Given the description of an element on the screen output the (x, y) to click on. 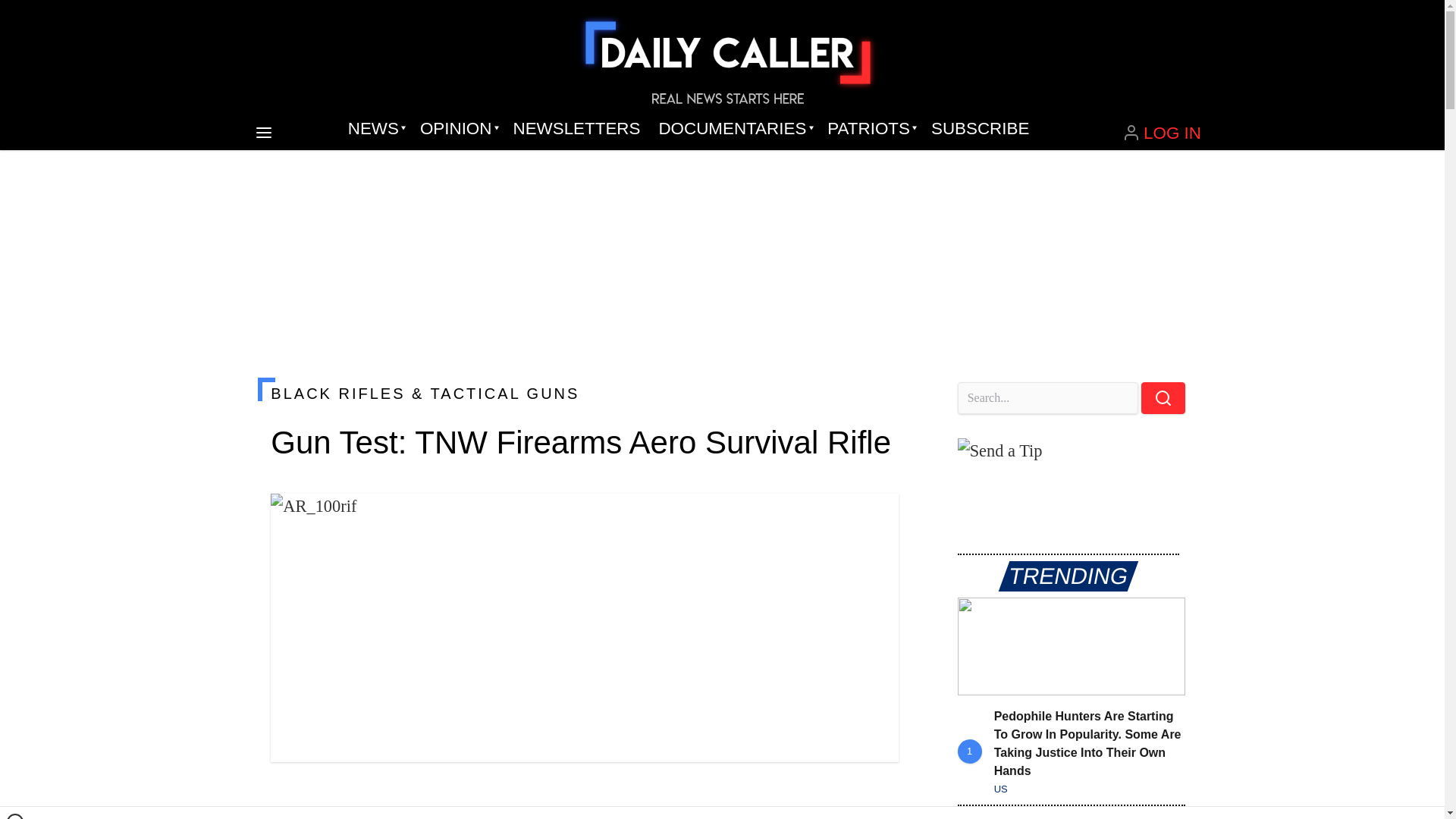
NEWSLETTERS (576, 128)
SUBSCRIBE (979, 128)
Close window (14, 816)
DOCUMENTARIES (733, 128)
PATRIOTS (869, 128)
Toggle fullscreen (874, 517)
NEWS (374, 128)
OPINION (456, 128)
